Given the description of an element on the screen output the (x, y) to click on. 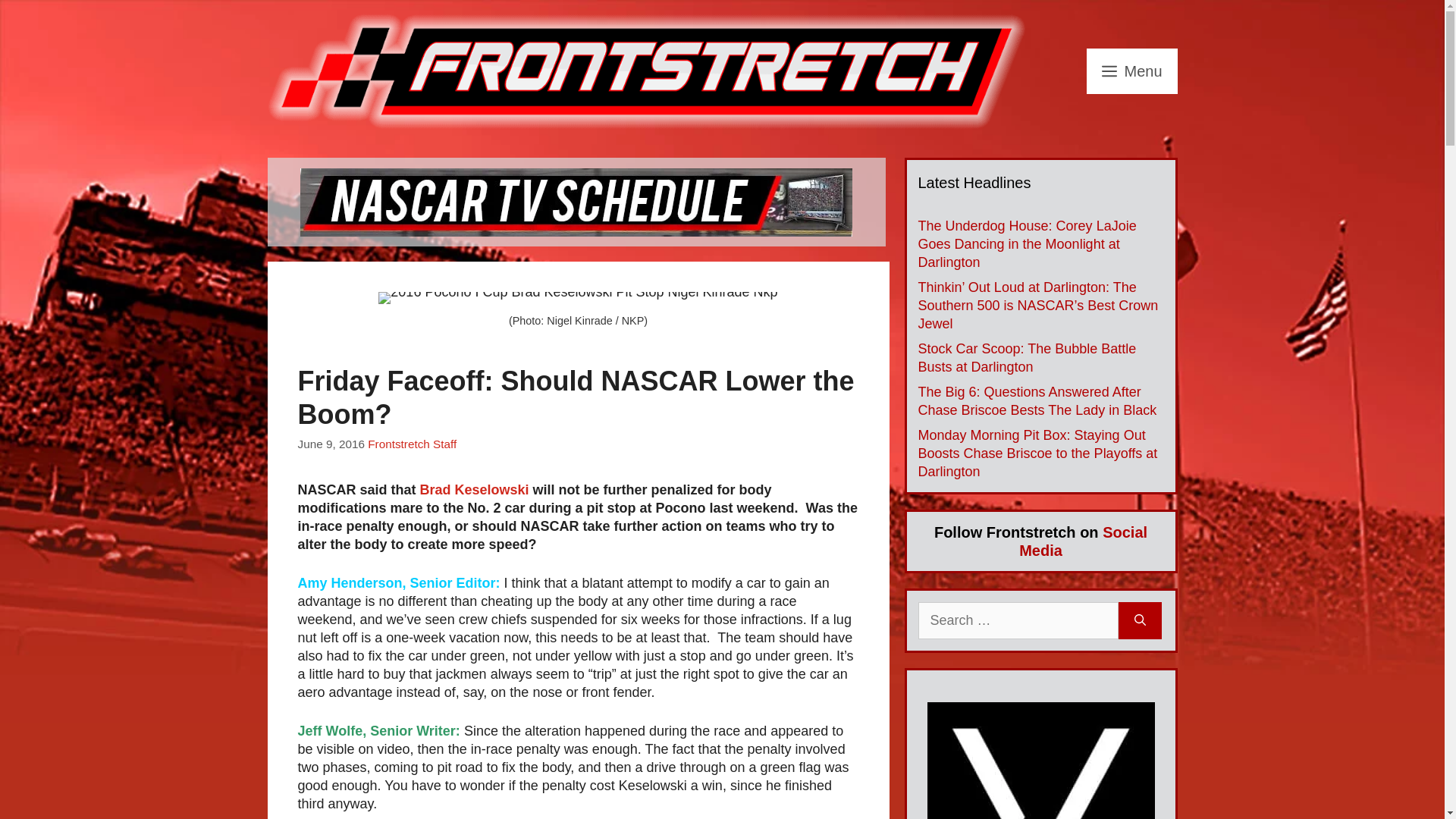
Search for: (1017, 620)
Stock Car Scoop: The Bubble Battle Busts at Darlington (1026, 357)
Menu (1131, 71)
Brad Keselowski (474, 489)
Frontstretch Staff (412, 443)
